Given the description of an element on the screen output the (x, y) to click on. 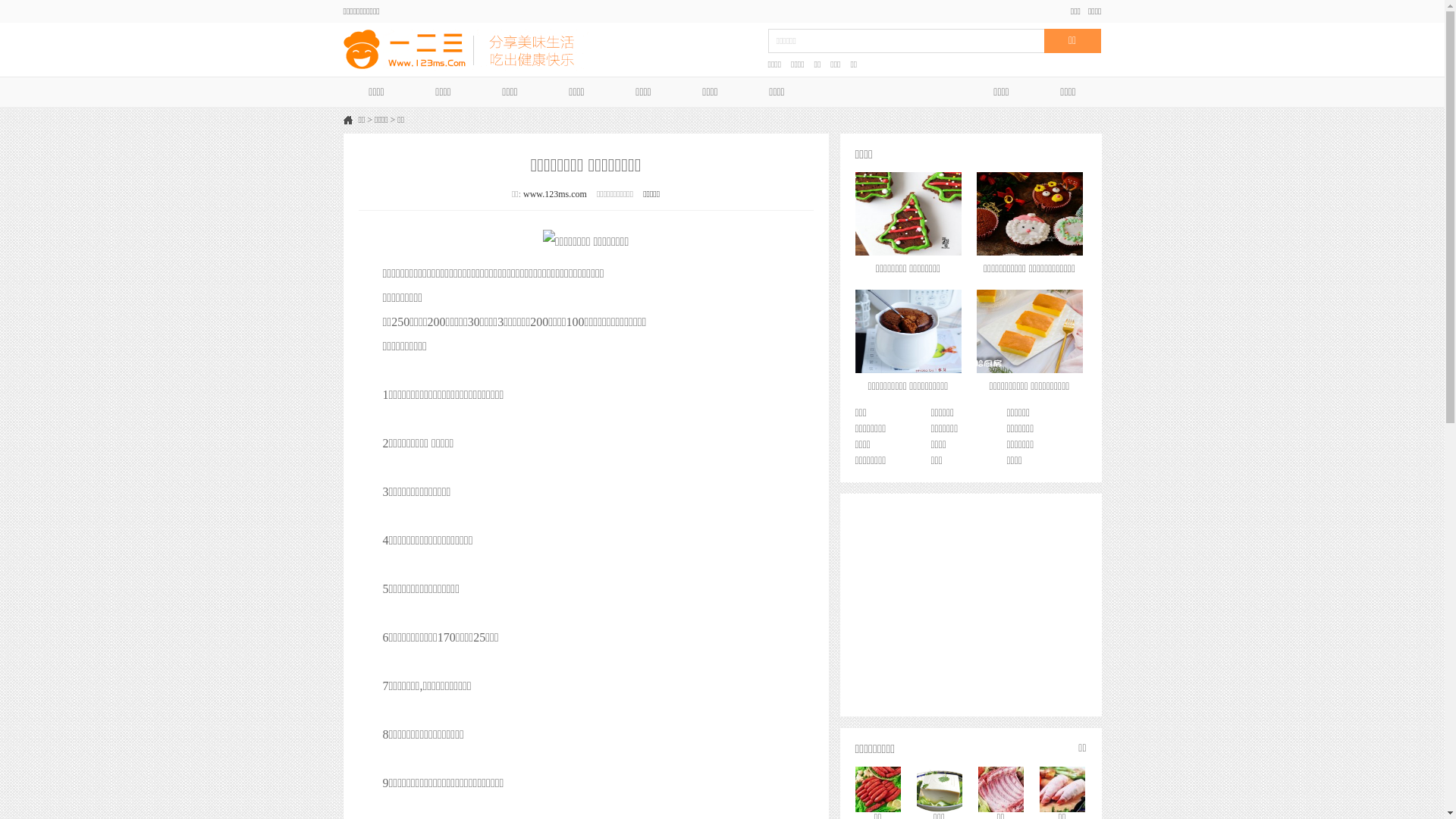
Advertisement Element type: hover (970, 603)
www.123ms.com Element type: text (554, 193)
